Given the description of an element on the screen output the (x, y) to click on. 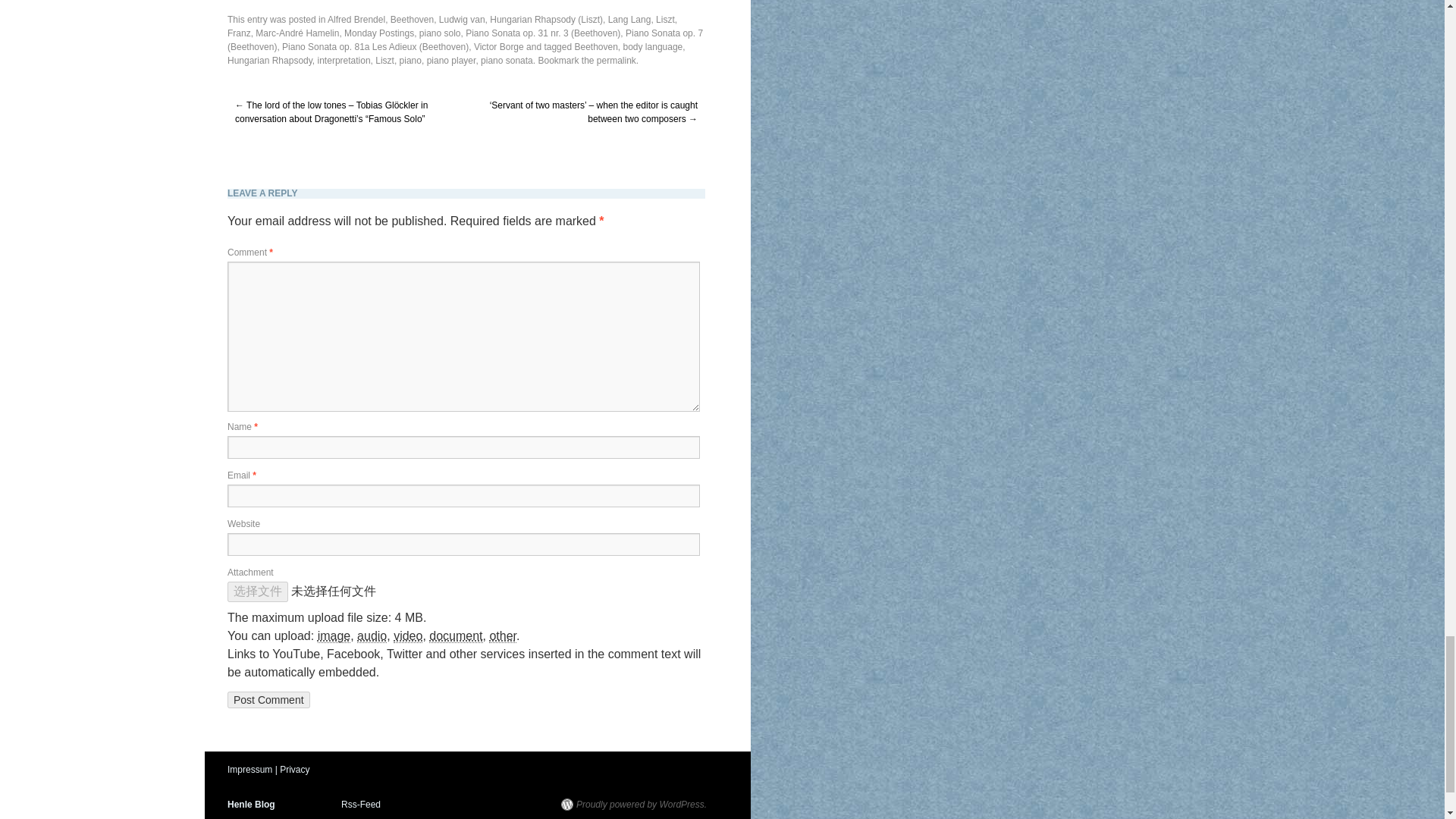
Hungarian Rhapsody (270, 60)
interpretation (344, 60)
piano player (451, 60)
piano sonata (506, 60)
Victor Borge (499, 46)
Beethoven, Ludwig van (437, 19)
body language (652, 46)
Monday Postings (378, 32)
pdf (455, 635)
Liszt, Franz (452, 26)
